Given the description of an element on the screen output the (x, y) to click on. 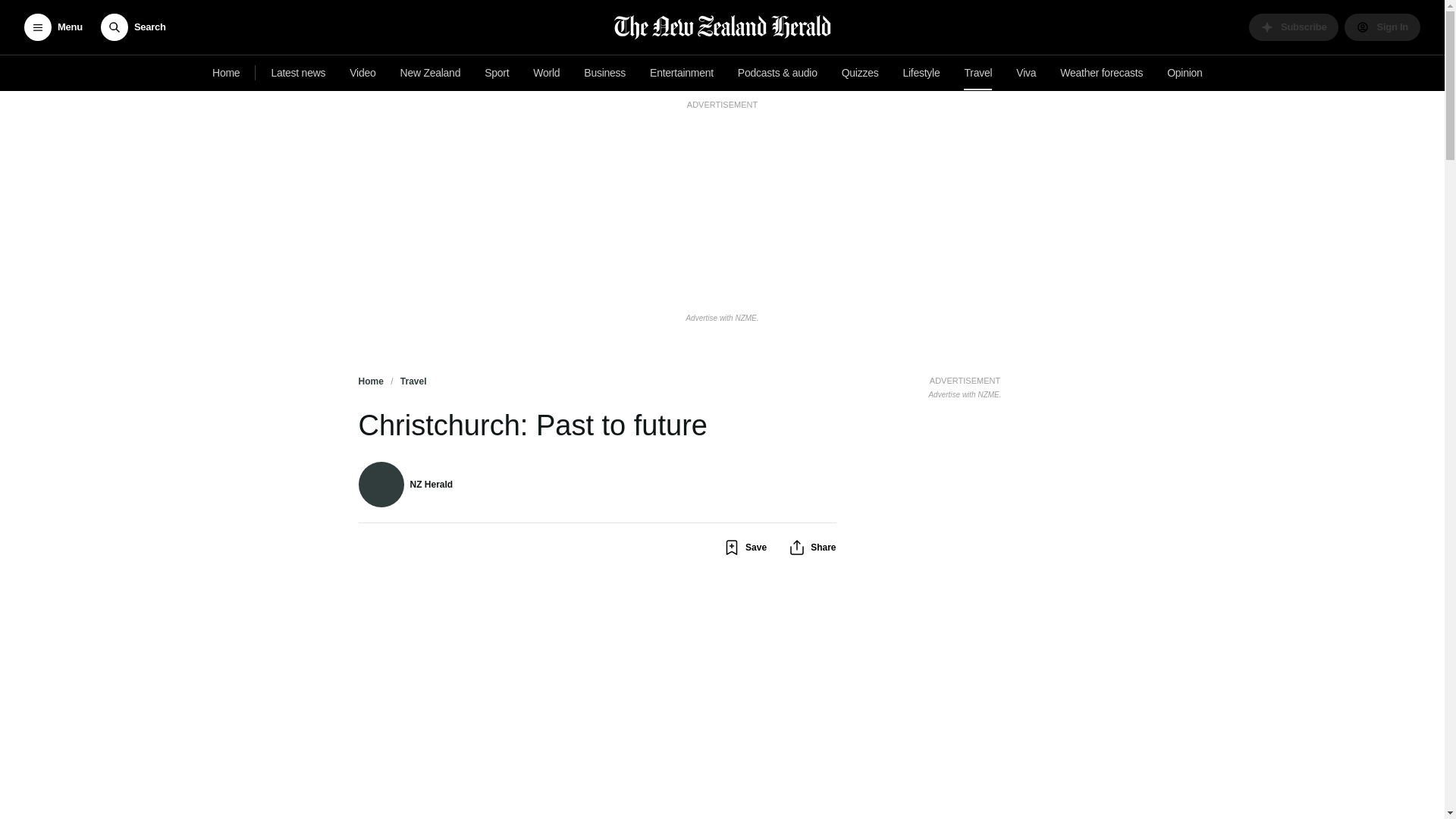
Manage your account (1382, 26)
Subscribe (1294, 26)
Business (604, 72)
Sign In (1382, 26)
Video (362, 72)
Quizzes (860, 72)
Sport (497, 72)
World (546, 72)
Search (132, 26)
New Zealand (430, 72)
